Given the description of an element on the screen output the (x, y) to click on. 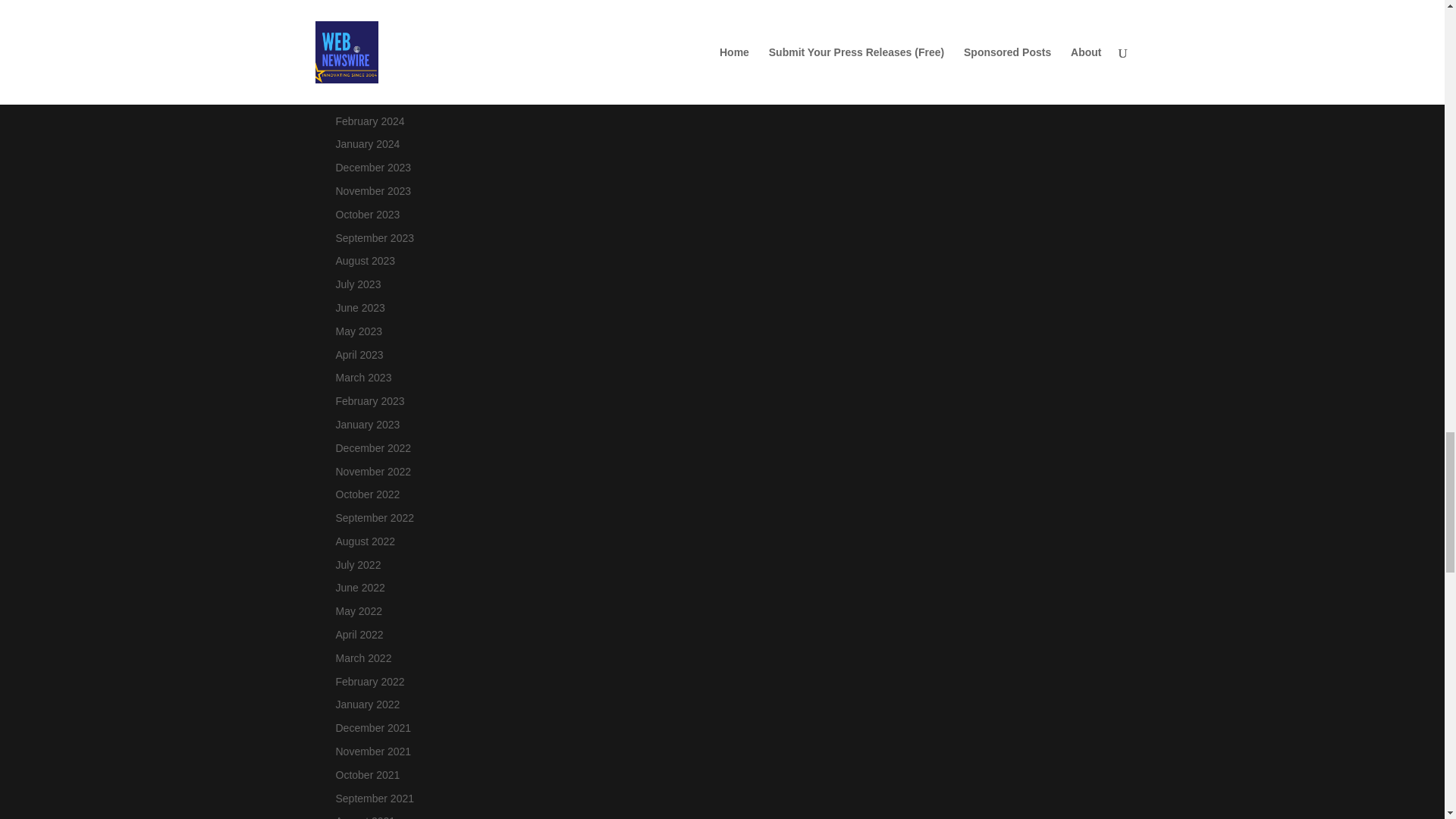
July 2024 (357, 5)
June 2024 (359, 27)
